Given the description of an element on the screen output the (x, y) to click on. 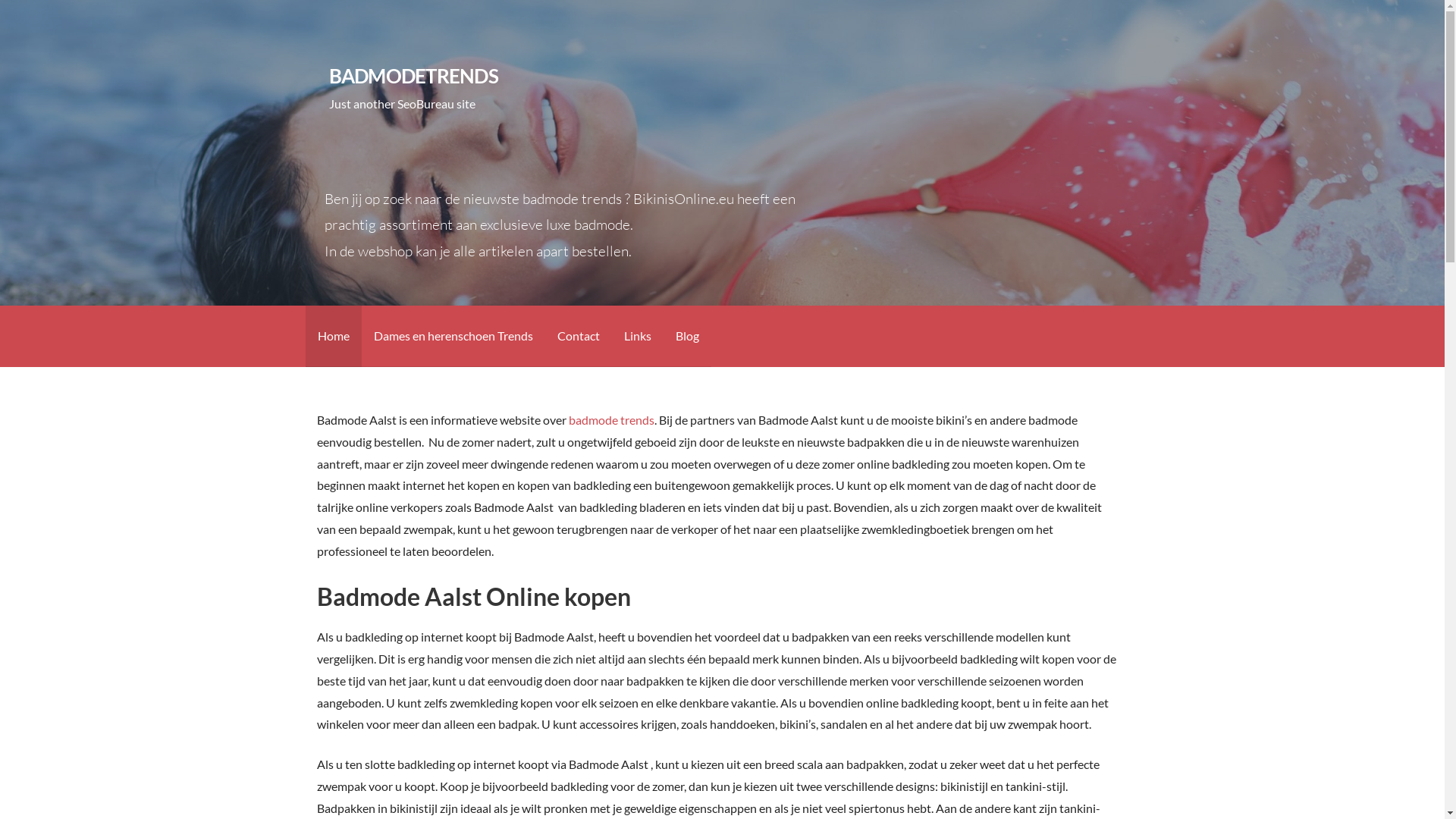
badmode trends Element type: text (611, 419)
Links Element type: text (636, 336)
Home Element type: text (332, 336)
Contact Element type: text (577, 336)
BADMODETRENDS Element type: text (413, 75)
Dames en herenschoen Trends Element type: text (452, 336)
Blog Element type: text (686, 336)
